Given the description of an element on the screen output the (x, y) to click on. 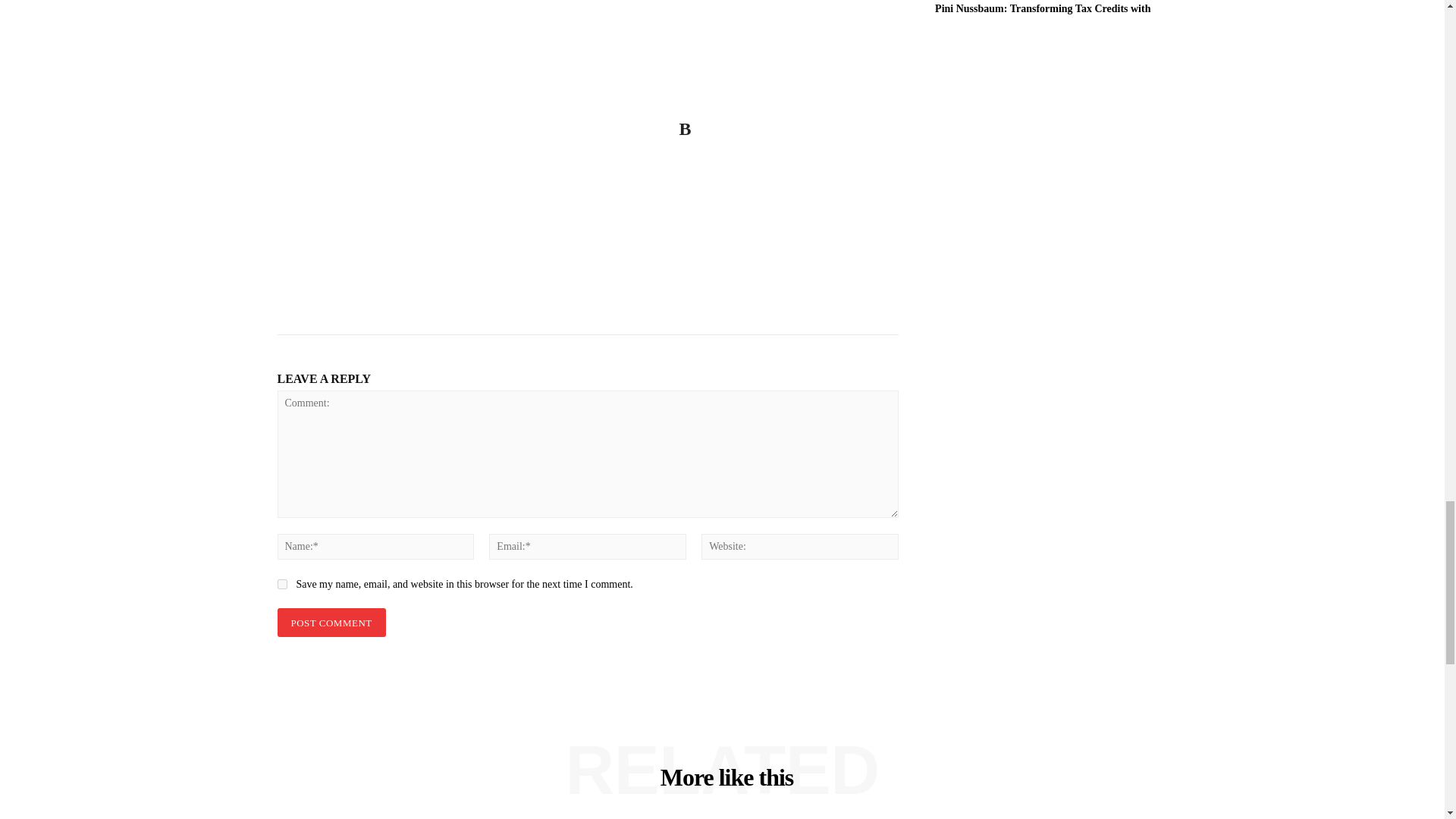
Post Comment (331, 623)
B (467, 159)
yes (282, 583)
